Given the description of an element on the screen output the (x, y) to click on. 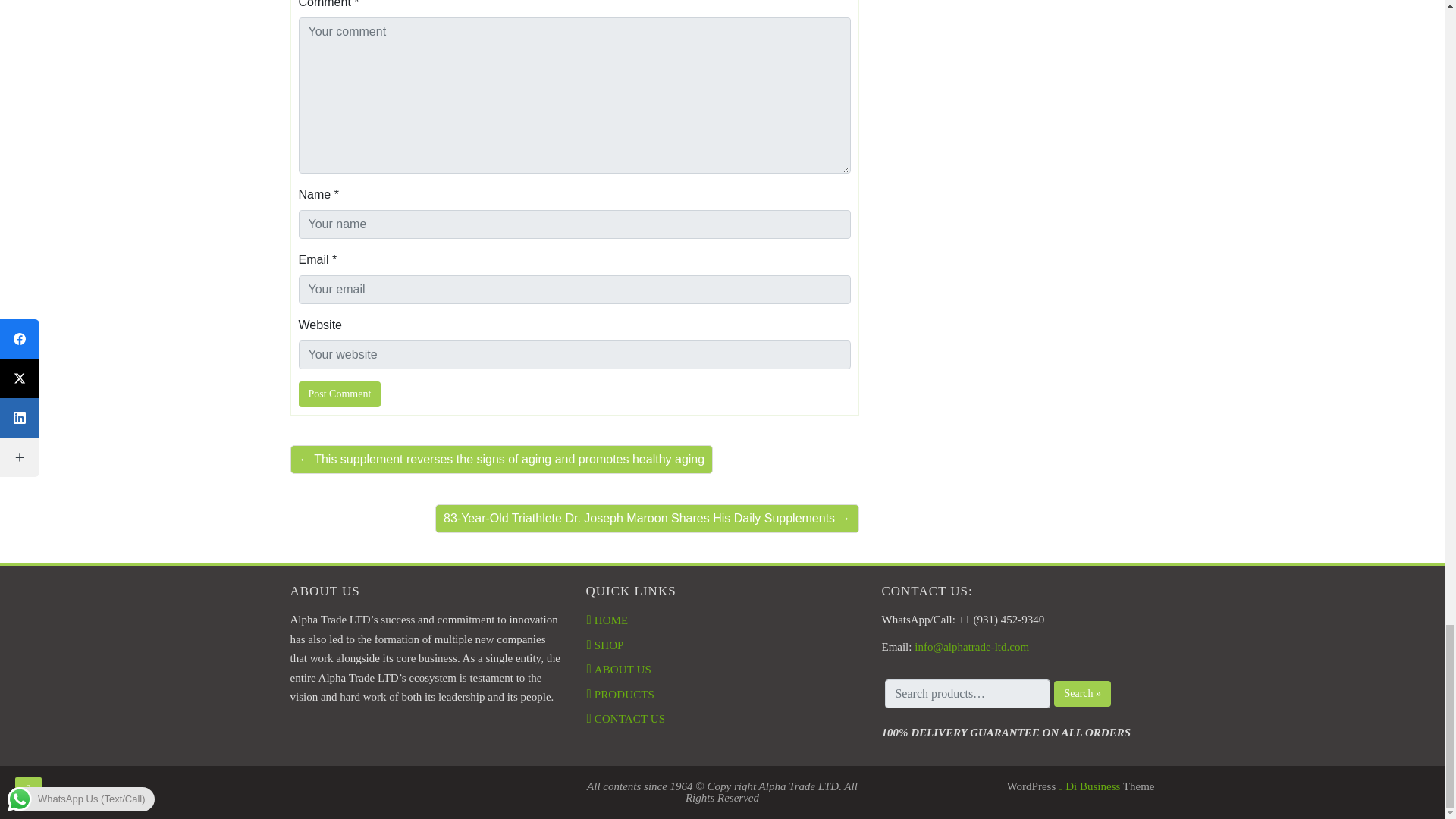
Post Comment (339, 394)
